Given the description of an element on the screen output the (x, y) to click on. 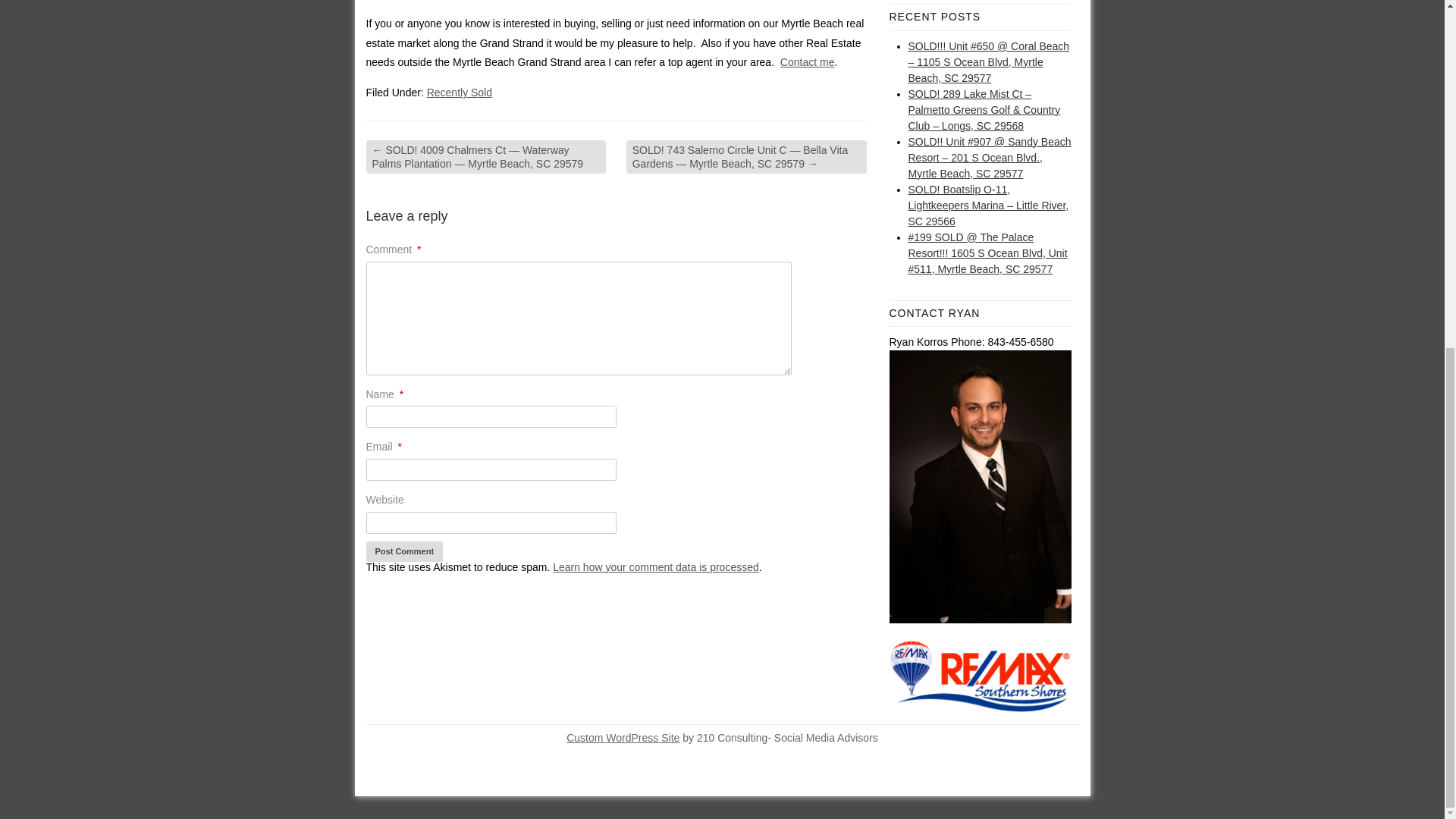
Post Comment (403, 551)
Contact me (807, 61)
Post Comment (403, 551)
Recently Sold (459, 92)
Learn how your comment data is processed (655, 567)
